Given the description of an element on the screen output the (x, y) to click on. 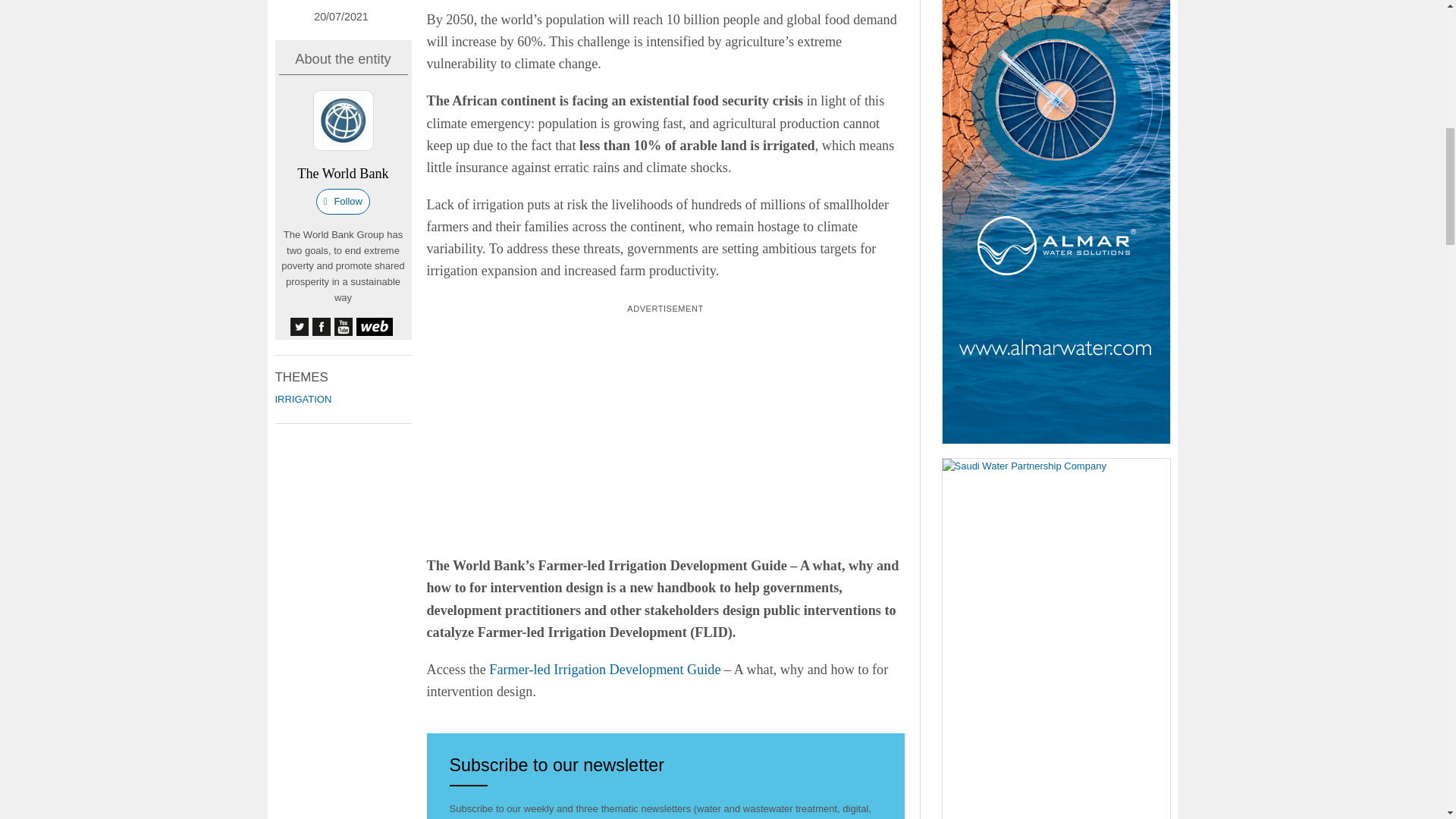
View The World Bank's profile on Twitter (298, 326)
View The World Bank's channel on Youtube (342, 326)
View The World Bank's profile on Facebook (321, 326)
View The World Bank's website (374, 326)
